Given the description of an element on the screen output the (x, y) to click on. 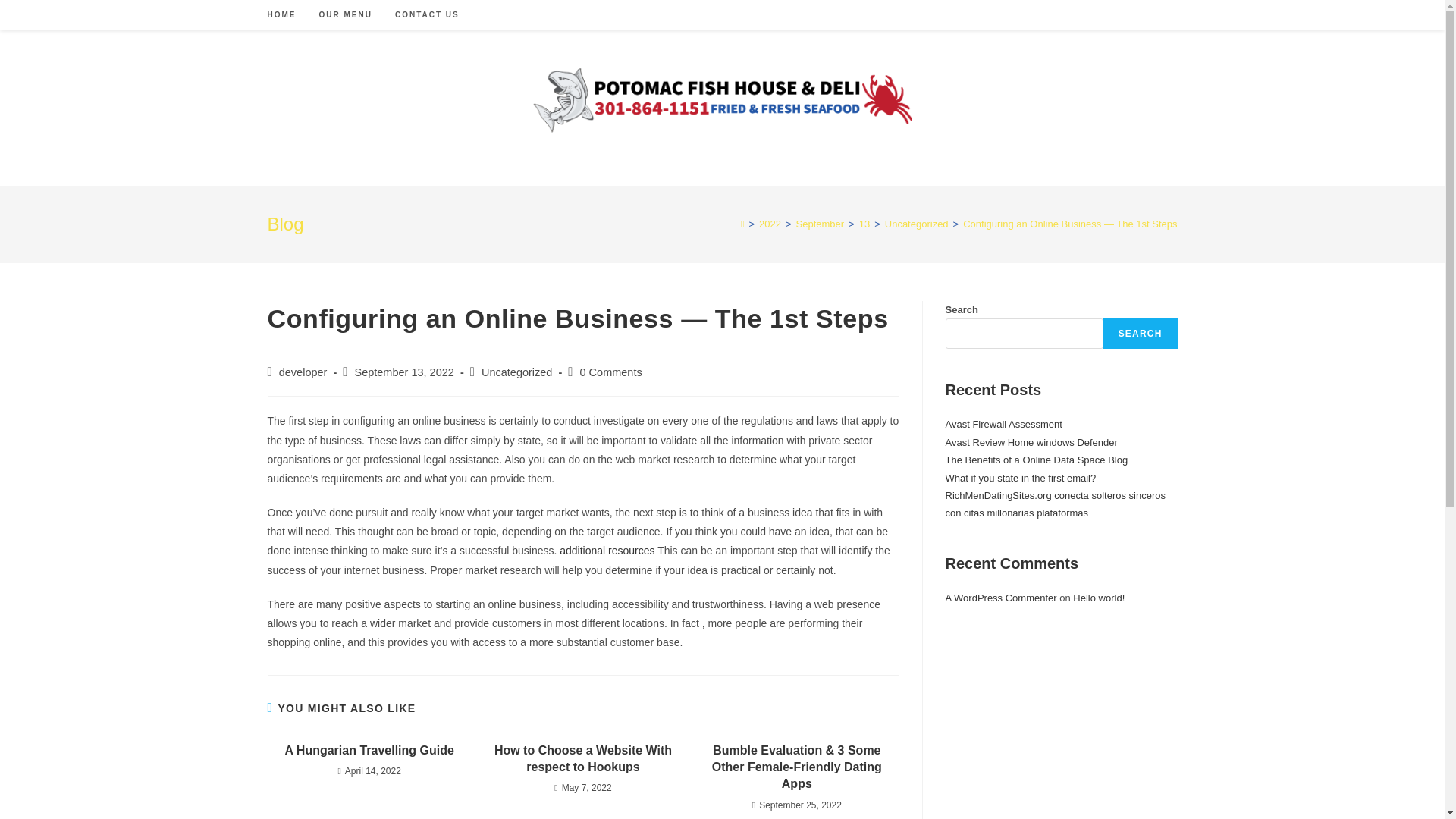
September (820, 224)
Uncategorized (917, 224)
Hello world! (1098, 597)
0 Comments (610, 372)
The Benefits of a Online Data Space Blog (1035, 460)
Posts by developer (303, 372)
How to Choose a Website With respect to Hookups (582, 759)
OUR MENU (345, 15)
CONTACT US (427, 15)
SEARCH (1140, 333)
A WordPress Commenter (1000, 597)
Avast Firewall Assessment (1002, 423)
additional resources (606, 550)
Uncategorized (517, 372)
